Given the description of an element on the screen output the (x, y) to click on. 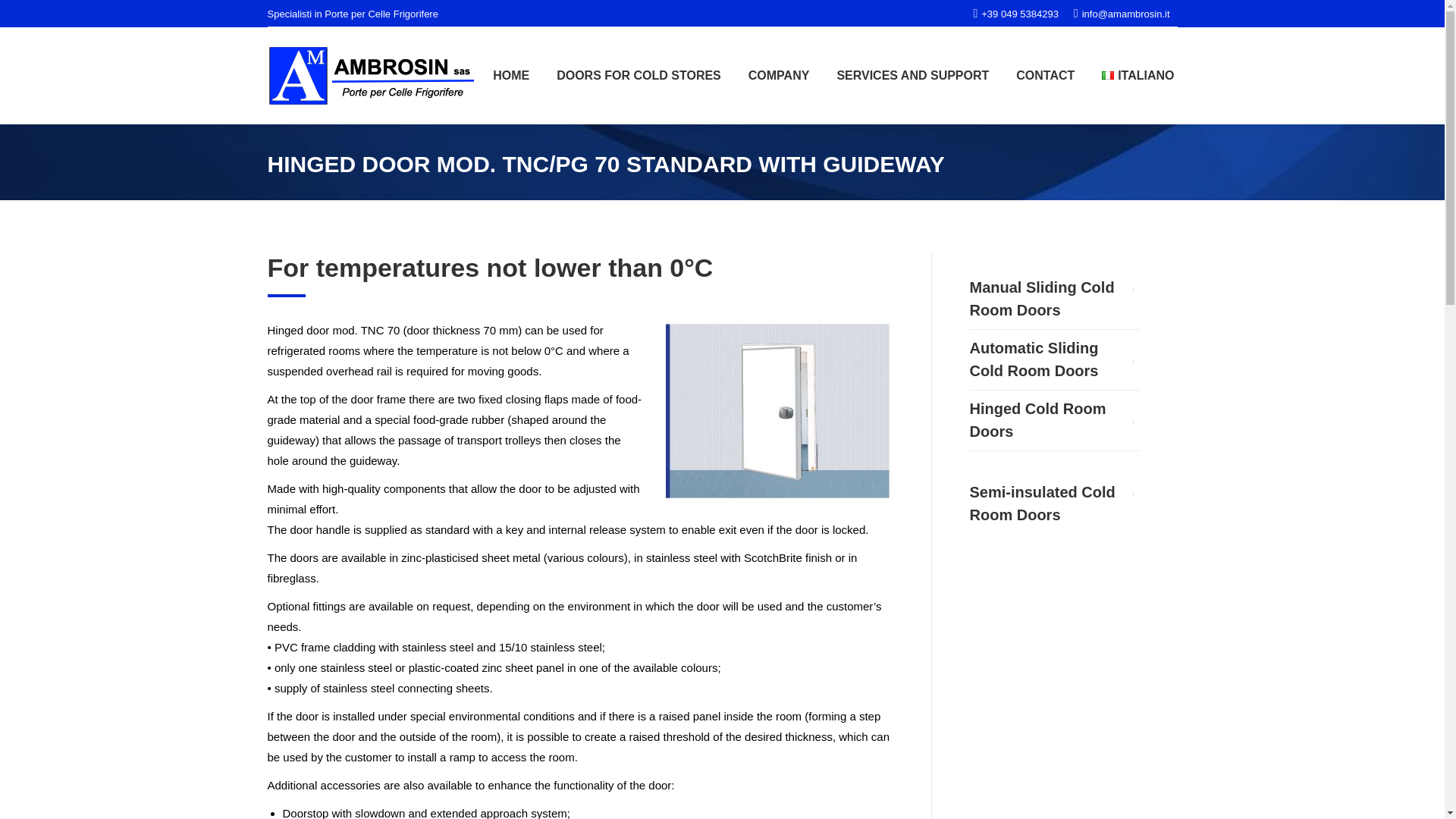
COMPANY (778, 75)
SERVICES AND SUPPORT (911, 75)
ITALIANO (1137, 75)
DOORS FOR COLD STORES (638, 75)
Manual Sliding Cold Room Doors (1053, 287)
Automatic Sliding Cold Room Doors (1053, 359)
CONTACT (1045, 75)
